Given the description of an element on the screen output the (x, y) to click on. 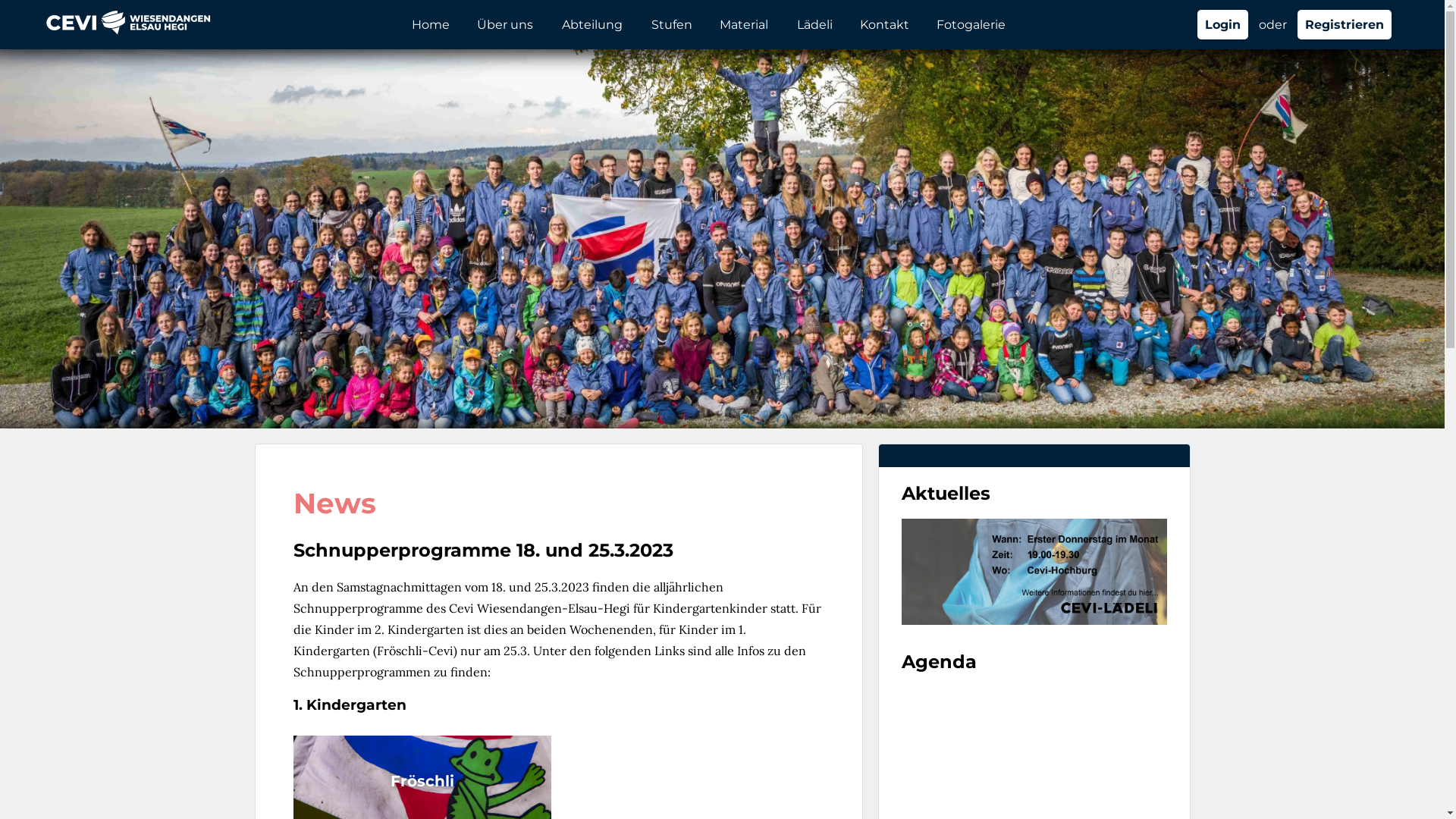
Registrieren Element type: text (1344, 24)
Login Element type: text (1222, 24)
Fotogalerie Element type: text (970, 24)
Stufen Element type: text (671, 24)
Kontakt Element type: text (884, 24)
Abteilung Element type: text (592, 24)
Material Element type: text (744, 24)
Home Element type: text (430, 24)
